Given the description of an element on the screen output the (x, y) to click on. 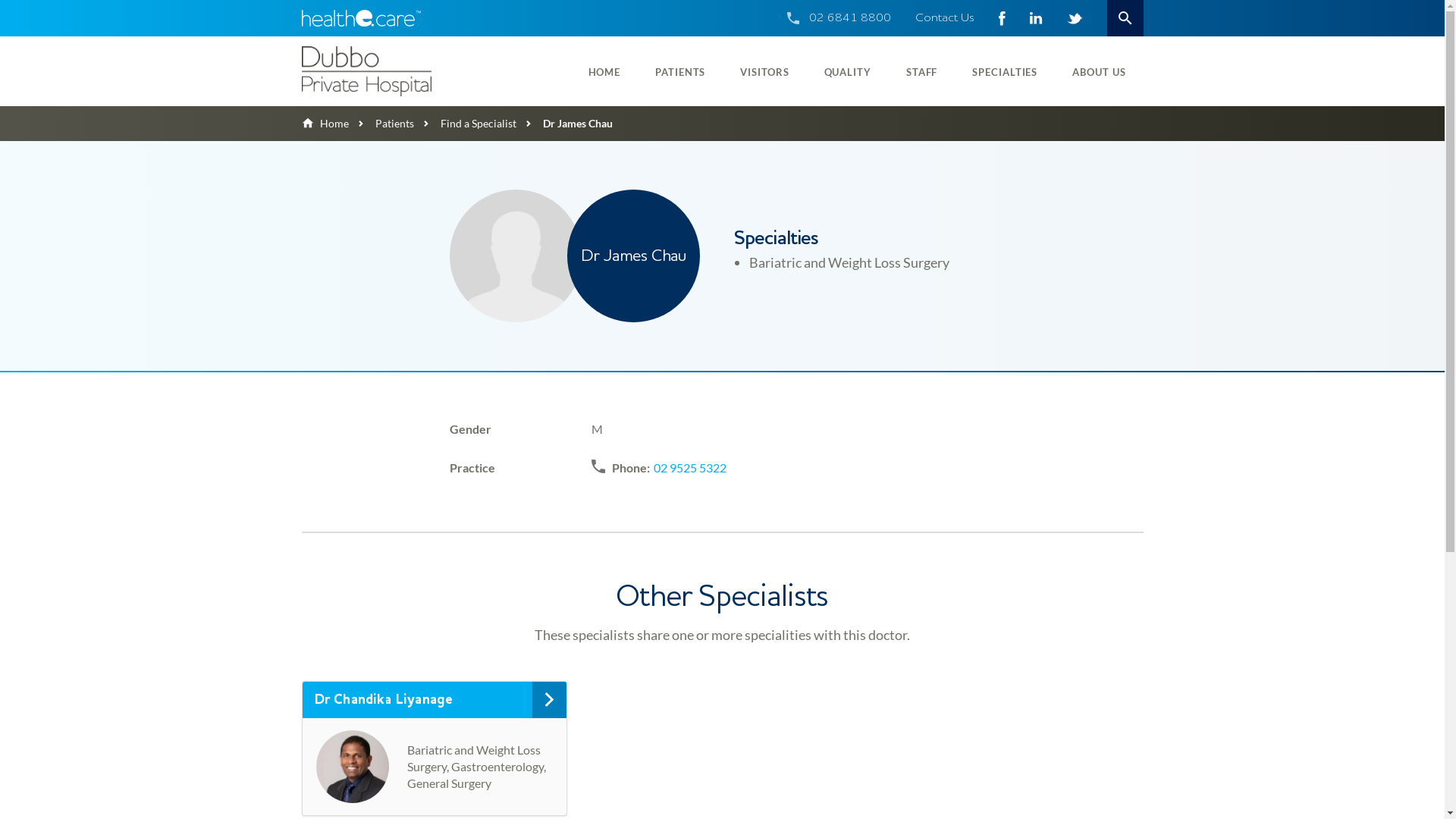
HOME Element type: text (604, 70)
PATIENTS Element type: text (679, 70)
QUALITY Element type: text (847, 70)
02 9525 5322 Element type: text (689, 467)
SPECIALTIES Element type: text (1004, 70)
Find a Specialist Element type: text (465, 122)
Dubbo Private Hospital Element type: text (399, 71)
VISITORS Element type: text (764, 70)
Patients Element type: text (381, 122)
STAFF Element type: text (921, 70)
Home Element type: text (324, 122)
ABOUT US Element type: text (1098, 70)
Twitter - HealtheCareAust Element type: text (1074, 17)
Facebook page - HealtheCareAustralia Element type: text (1000, 17)
LinkedIn - 292626 Element type: text (1035, 18)
02 6841 8800 Element type: text (849, 18)
Contact Us Element type: text (943, 18)
